Given the description of an element on the screen output the (x, y) to click on. 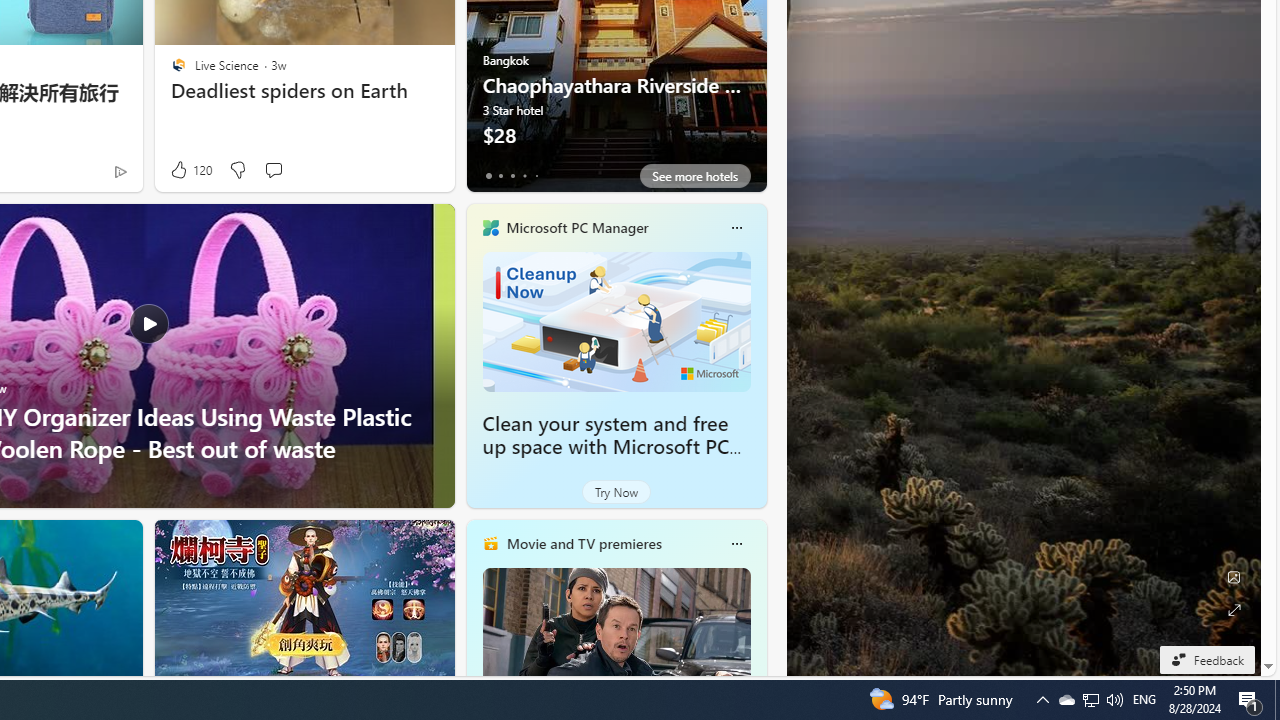
More options (736, 543)
Try Now (616, 491)
Start the conversation (273, 169)
Ad Choice (119, 171)
Dislike (237, 170)
Edit Background (1233, 577)
tab-3 (524, 175)
